Given the description of an element on the screen output the (x, y) to click on. 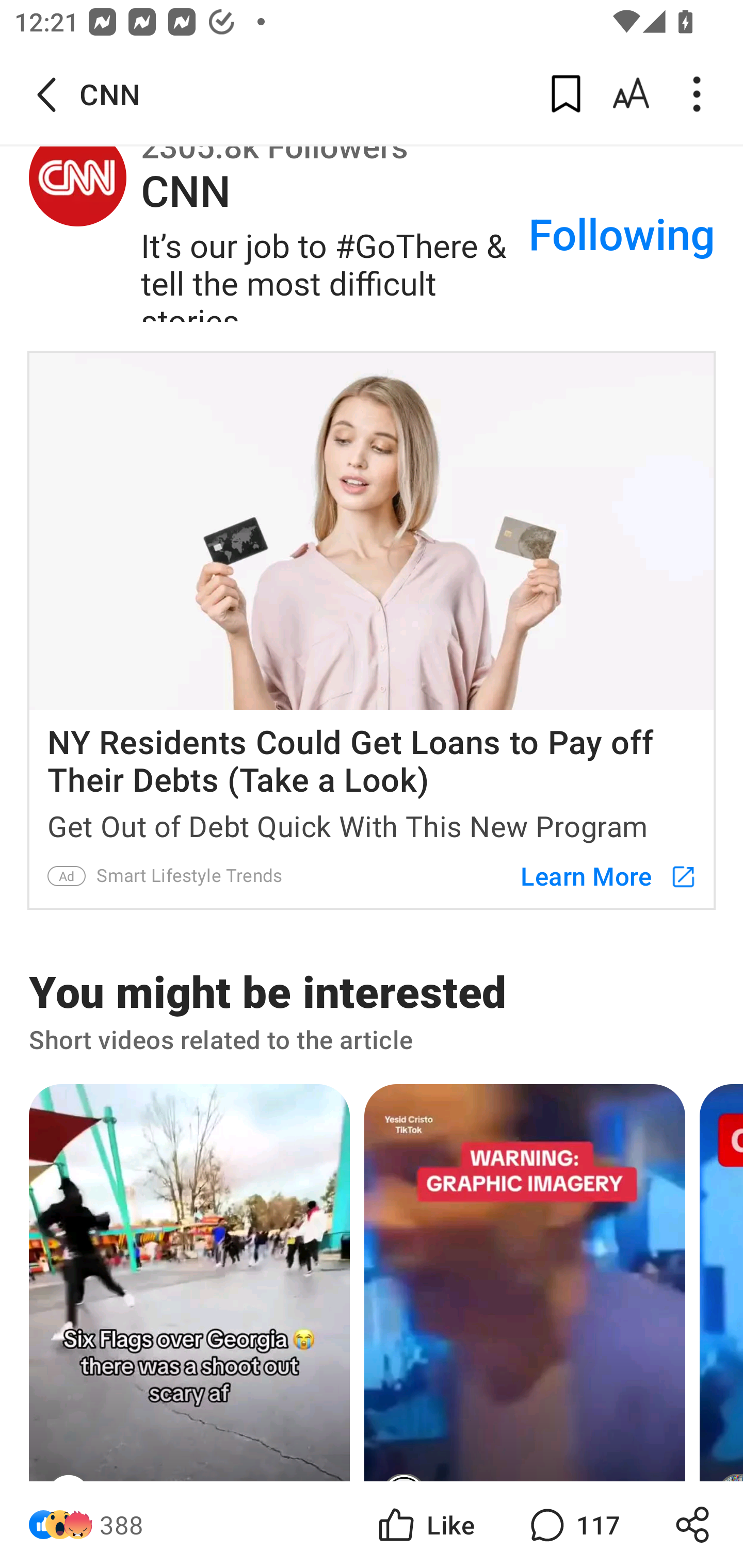
CNN (77, 179)
Following (621, 226)
Get Out of Debt Quick With This New Program (371, 822)
Learn More (598, 875)
Smart Lifestyle Trends (189, 875)
388 (121, 1524)
Like (425, 1524)
117 (572, 1524)
